Given the description of an element on the screen output the (x, y) to click on. 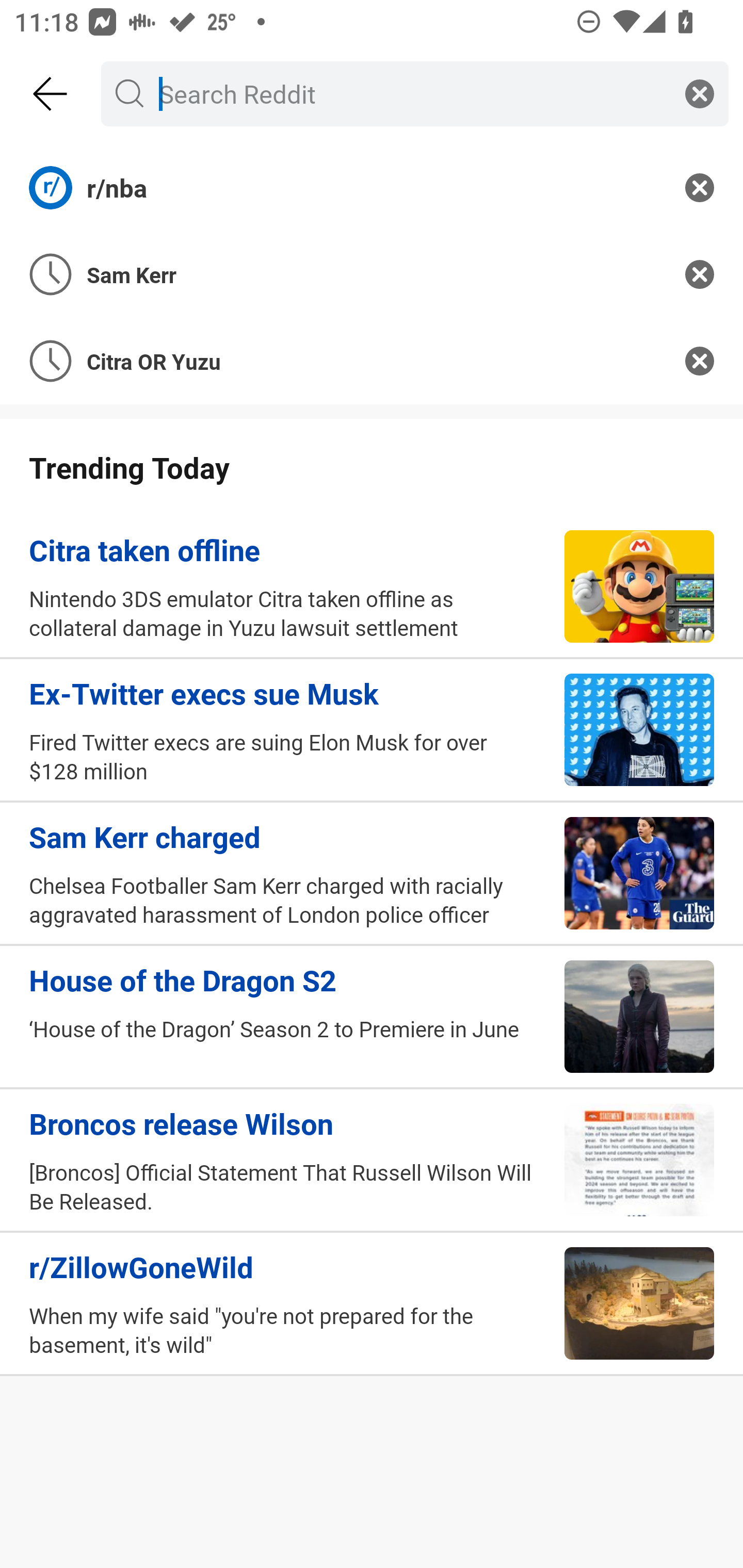
Back (50, 93)
Search Reddit (410, 93)
Clear search (699, 93)
r/nba Recent search: r/nba Remove (371, 187)
Remove (699, 187)
Sam Kerr Recent search: Sam Kerr Remove (371, 274)
Remove (699, 274)
Citra OR Yuzu Recent search: Citra OR Yuzu Remove (371, 361)
Remove (699, 361)
